Given the description of an element on the screen output the (x, y) to click on. 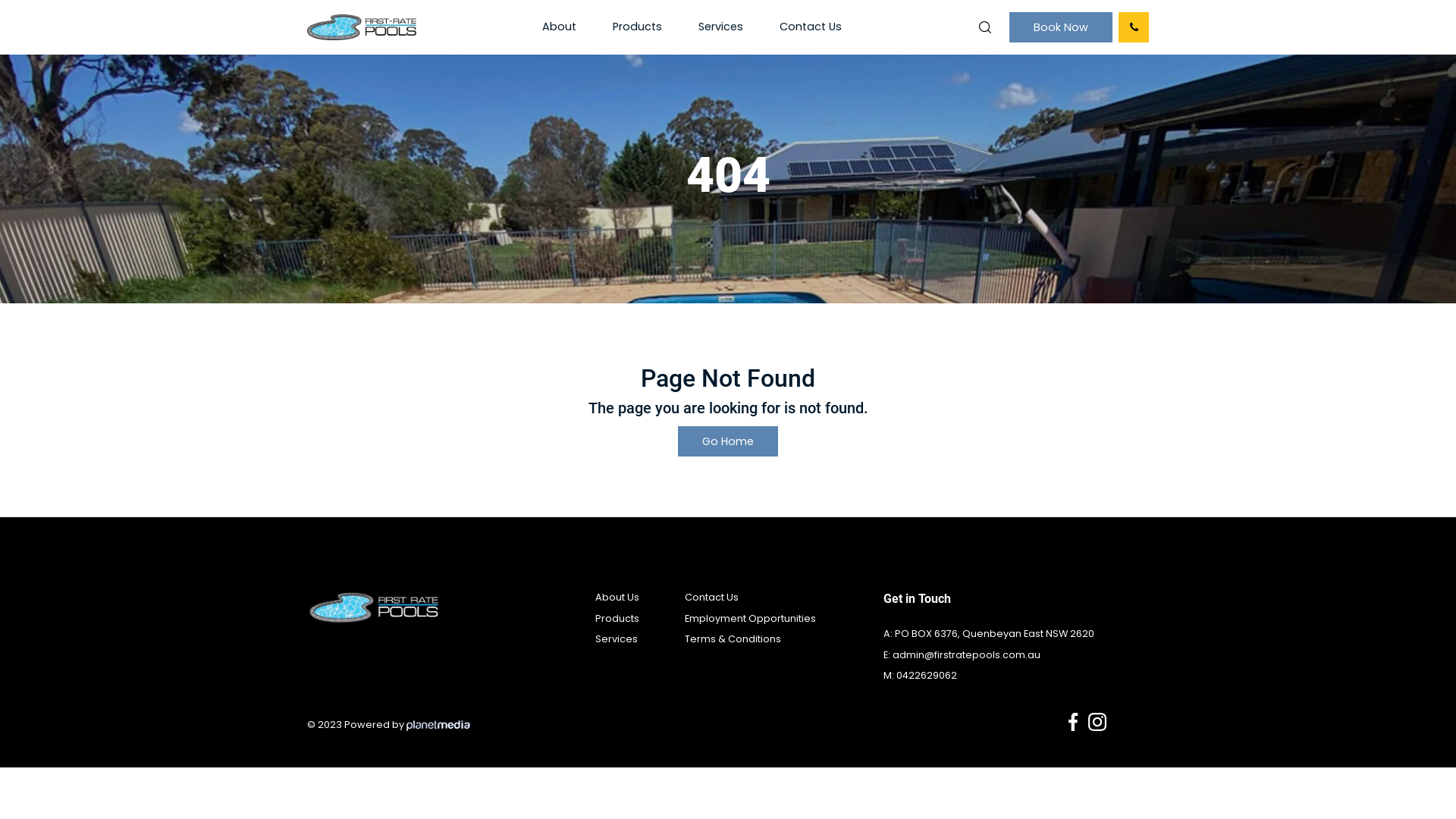
Go Home Element type: text (727, 441)
Terms & Conditions Element type: text (732, 638)
Products Element type: text (617, 617)
Book Now Element type: text (1060, 27)
Employment Opportunities Element type: text (749, 617)
Instagram Element type: text (1097, 721)
Services Element type: text (719, 26)
Search Element type: text (984, 27)
Facebook Element type: text (1072, 721)
About Element type: text (558, 26)
Contact Us Element type: text (711, 596)
Contact Us Element type: text (810, 26)
0422629062 Element type: text (926, 674)
Products Element type: text (637, 26)
About Us Element type: text (617, 596)
admin@firstratepools.com.au Element type: text (966, 654)
Services Element type: text (616, 638)
